Given the description of an element on the screen output the (x, y) to click on. 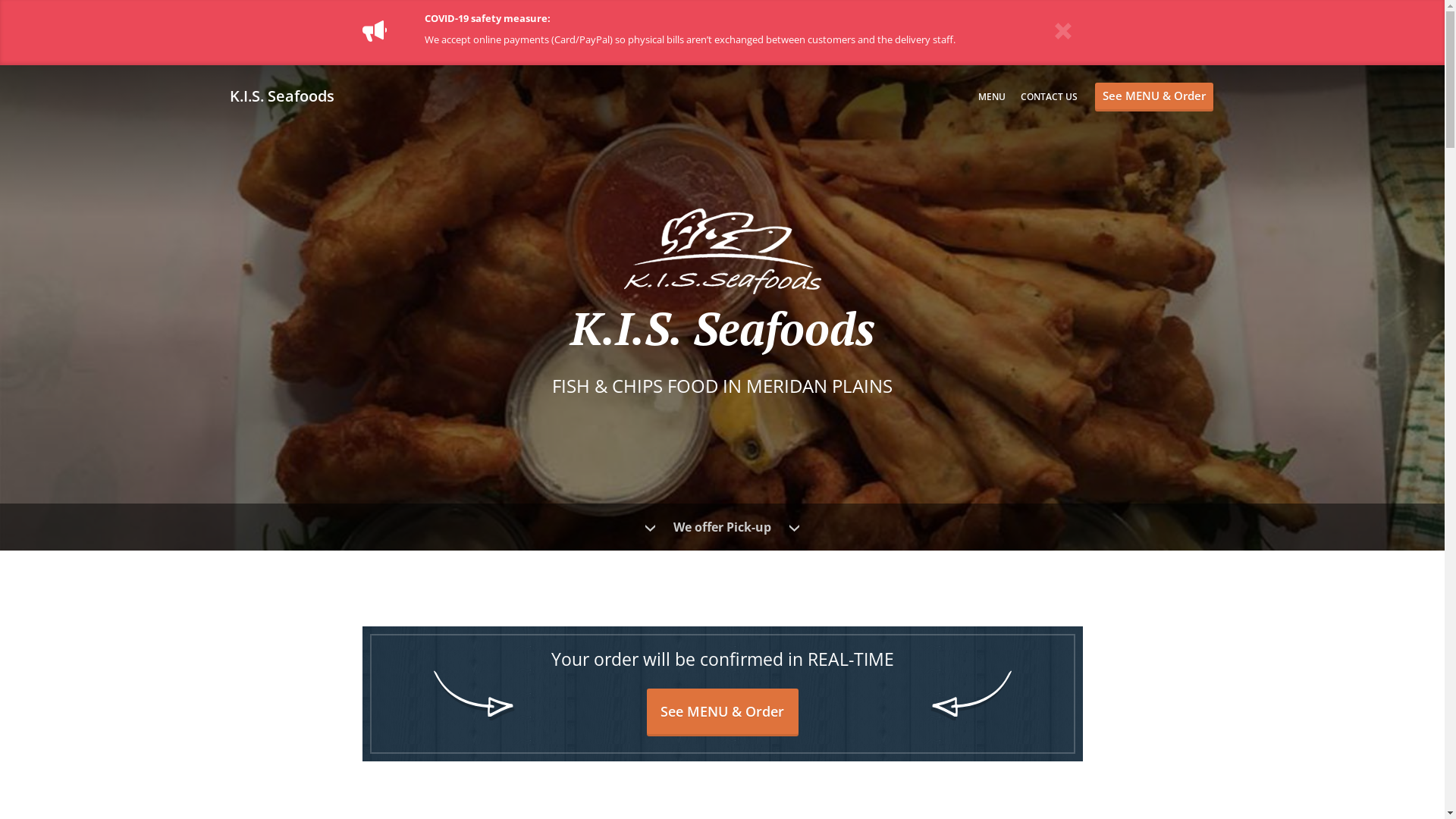
MENU Element type: text (991, 96)
CONTACT US Element type: text (1048, 96)
K.I.S. Seafoods Element type: text (288, 95)
